Given the description of an element on the screen output the (x, y) to click on. 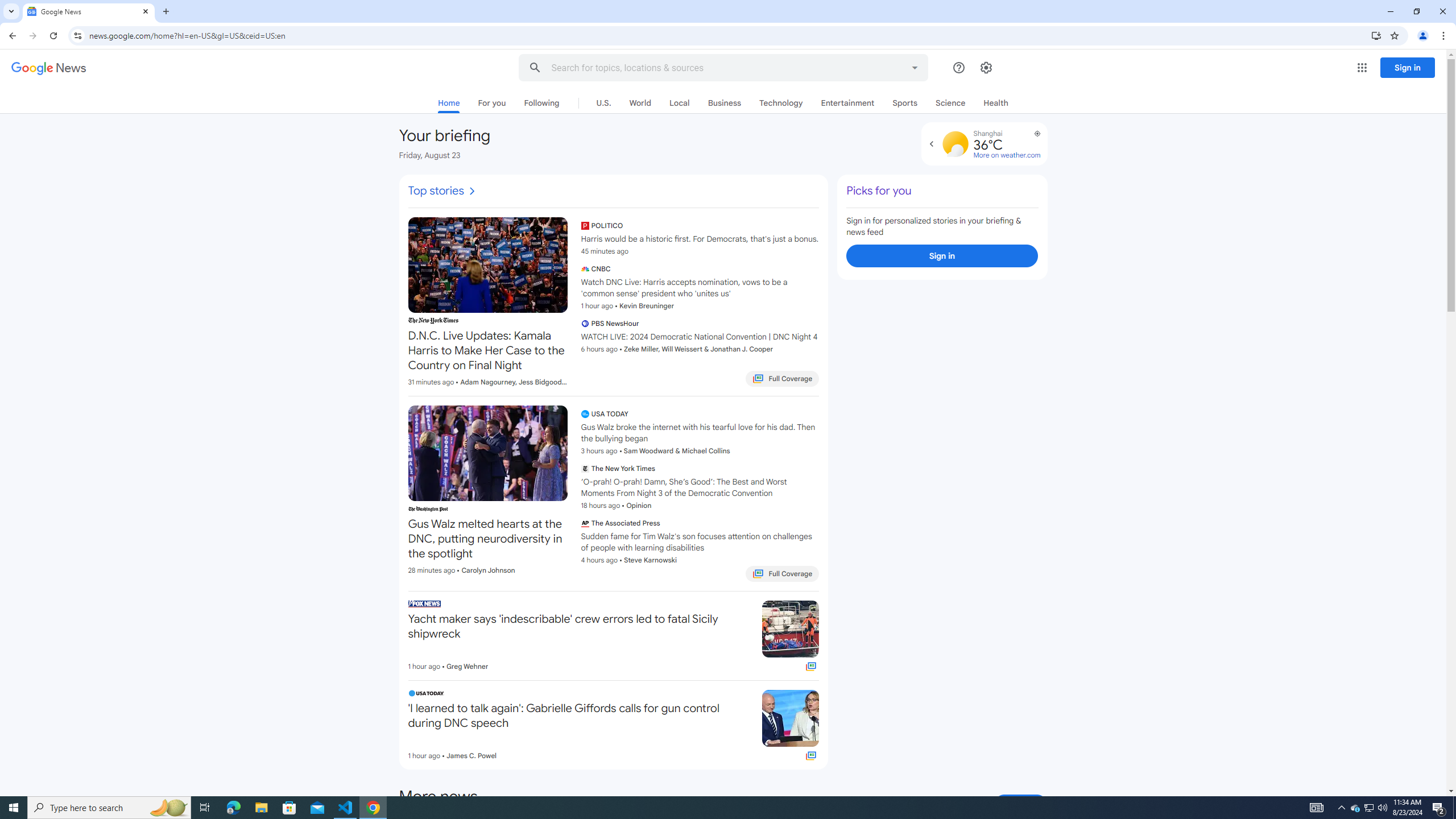
Google News (88, 11)
